Given the description of an element on the screen output the (x, y) to click on. 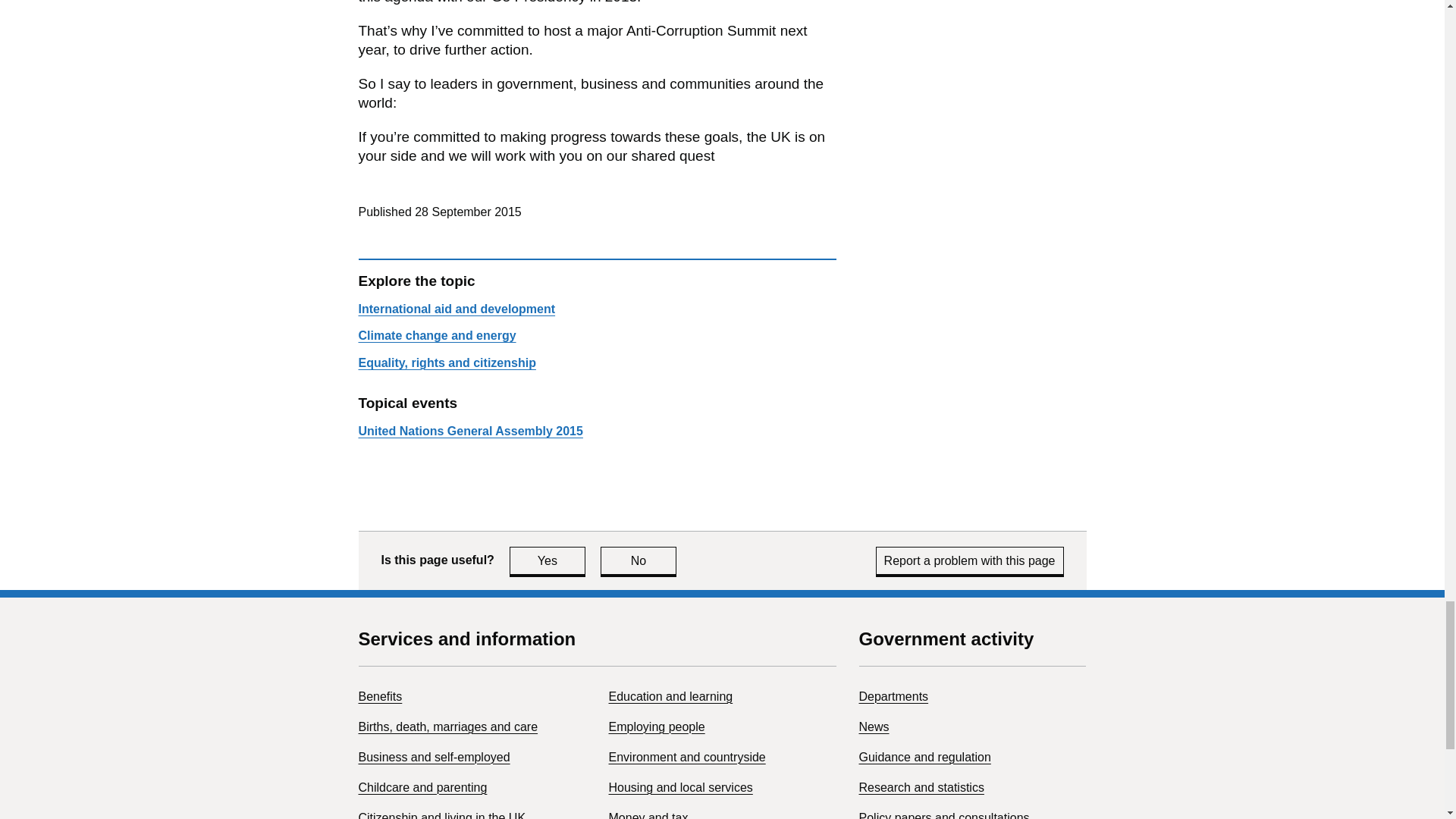
Equality, rights and citizenship (446, 362)
Births, death, marriages and care (447, 726)
United Nations General Assembly 2015 (470, 431)
Benefits (379, 696)
Housing and local services (680, 787)
Business and self-employed (433, 757)
Childcare and parenting (422, 787)
Citizenship and living in the UK (547, 560)
International aid and development (441, 815)
Education and learning (456, 308)
Environment and countryside (670, 696)
Climate change and energy (686, 757)
Money and tax (436, 335)
